Given the description of an element on the screen output the (x, y) to click on. 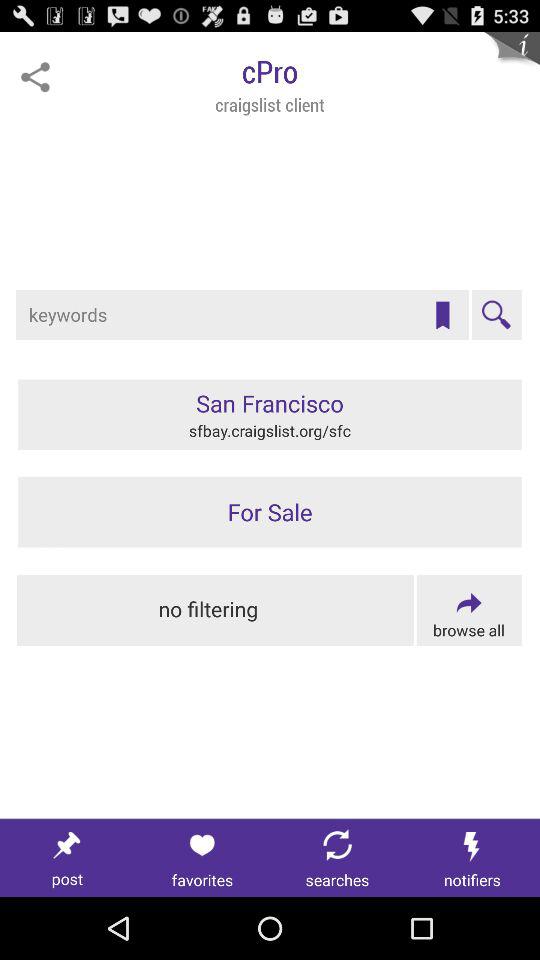
for sale filter option (269, 511)
